Given the description of an element on the screen output the (x, y) to click on. 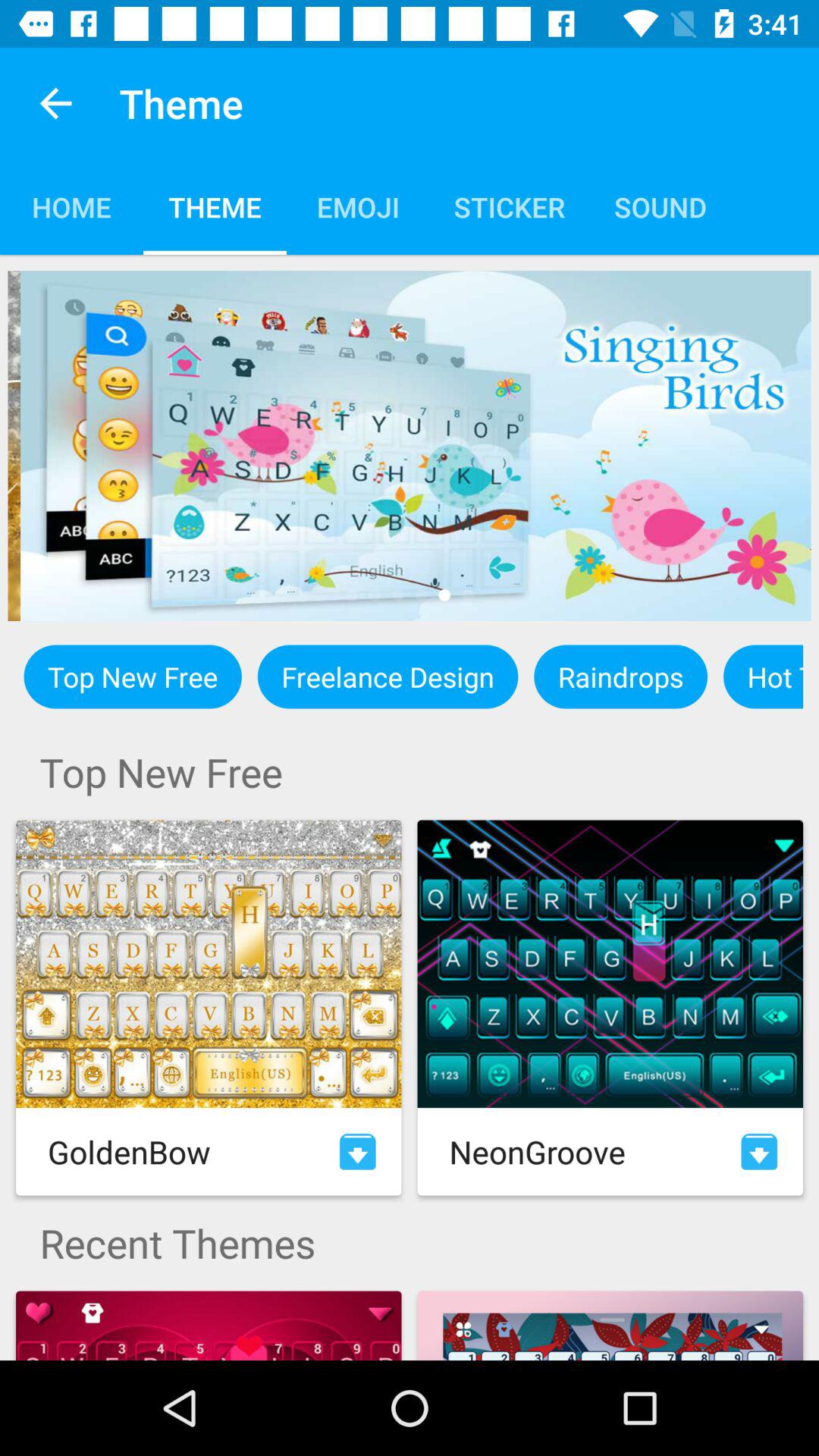
launch the icon next to hot themes icon (620, 676)
